Given the description of an element on the screen output the (x, y) to click on. 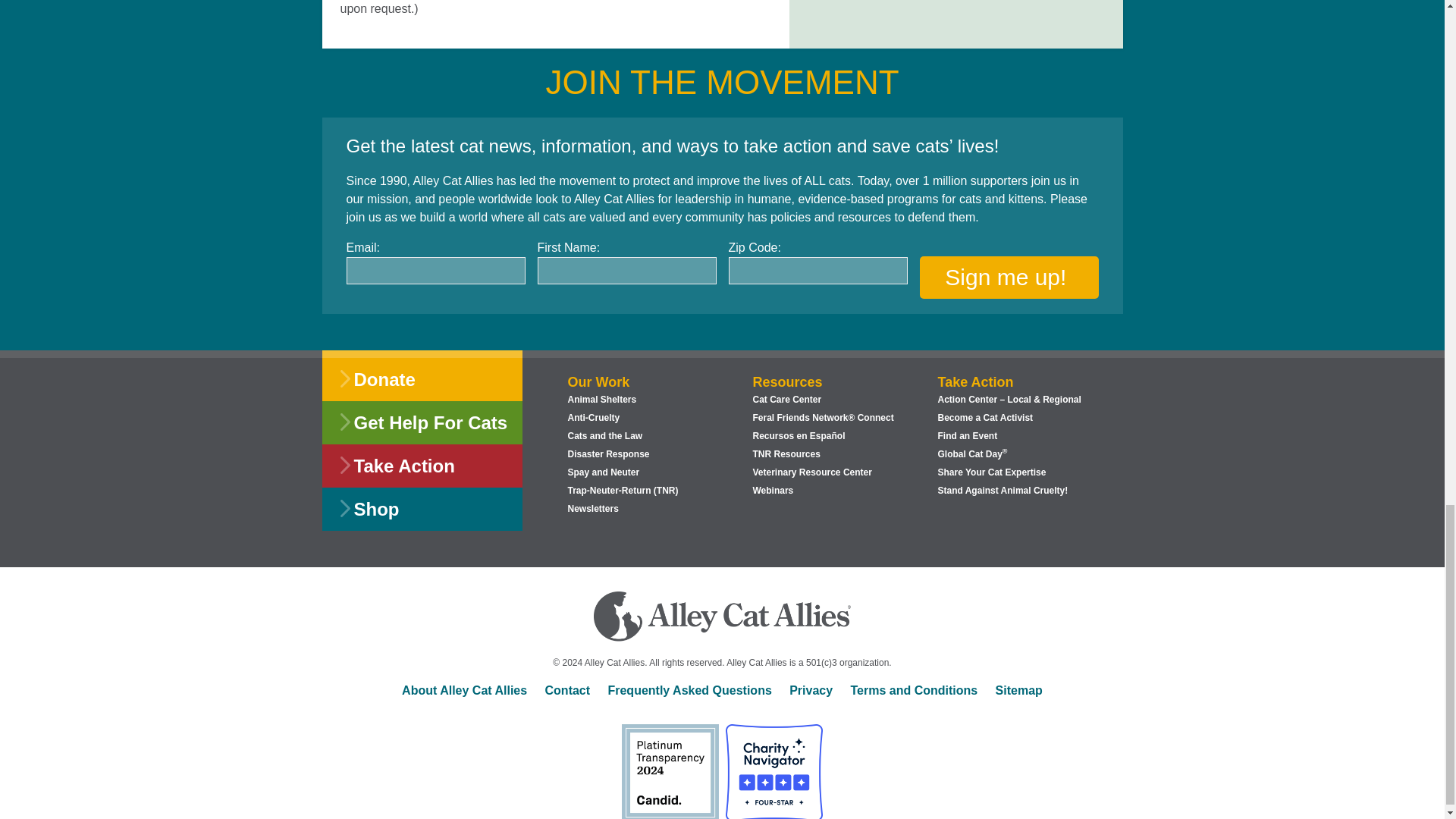
Sign me up!  (1007, 277)
